Given the description of an element on the screen output the (x, y) to click on. 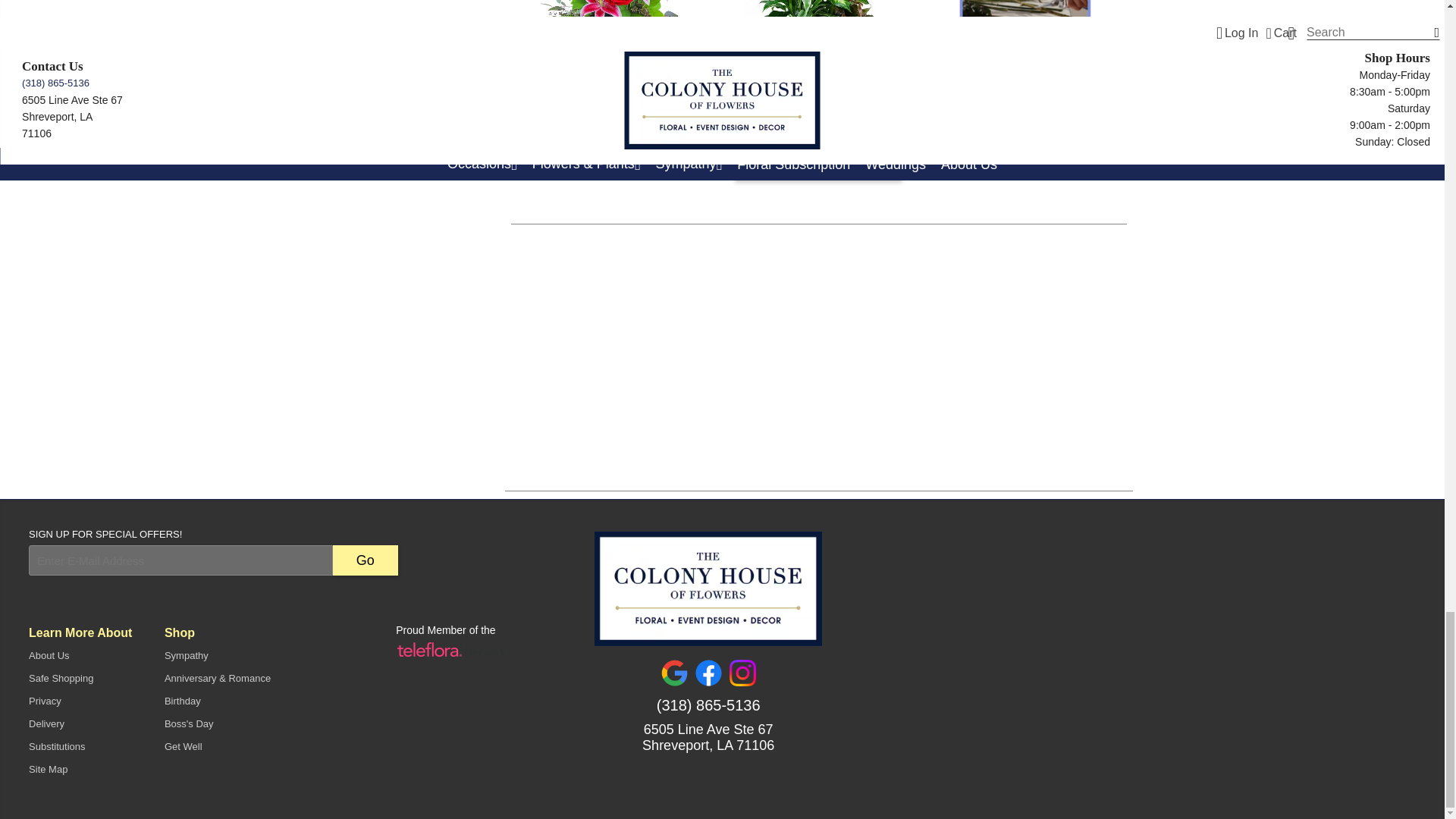
Email Sign up (181, 560)
go (365, 560)
Go (365, 560)
